Given the description of an element on the screen output the (x, y) to click on. 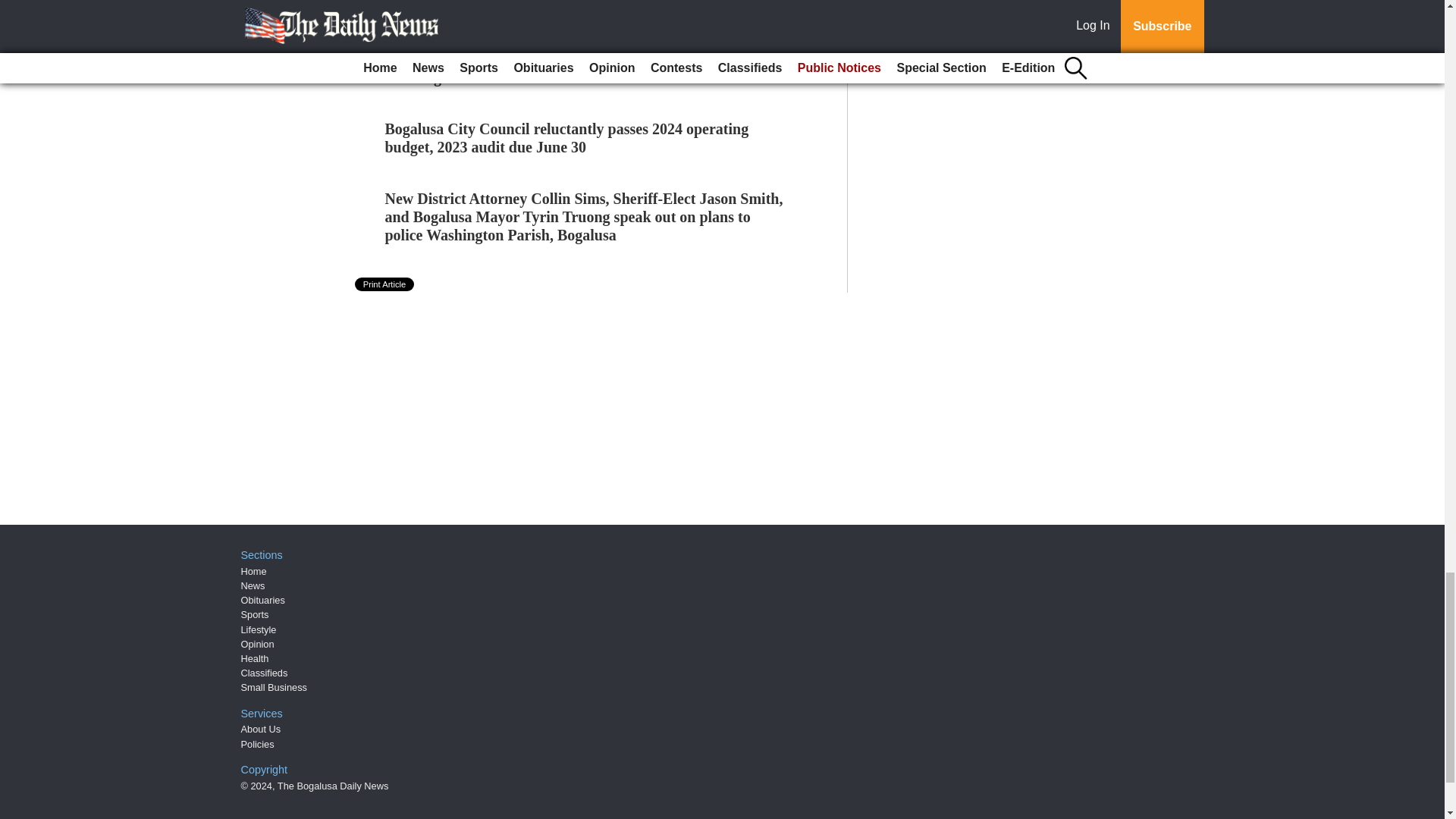
Print Article (384, 284)
Opinion (258, 644)
News (252, 585)
About Us (261, 728)
Small Business (274, 686)
Policies (258, 744)
Lifestyle (258, 629)
Sports (255, 614)
Washington Parish Watermelon Festival this weekend (559, 76)
Home (253, 571)
Classifieds (264, 672)
Obituaries (263, 600)
